Given the description of an element on the screen output the (x, y) to click on. 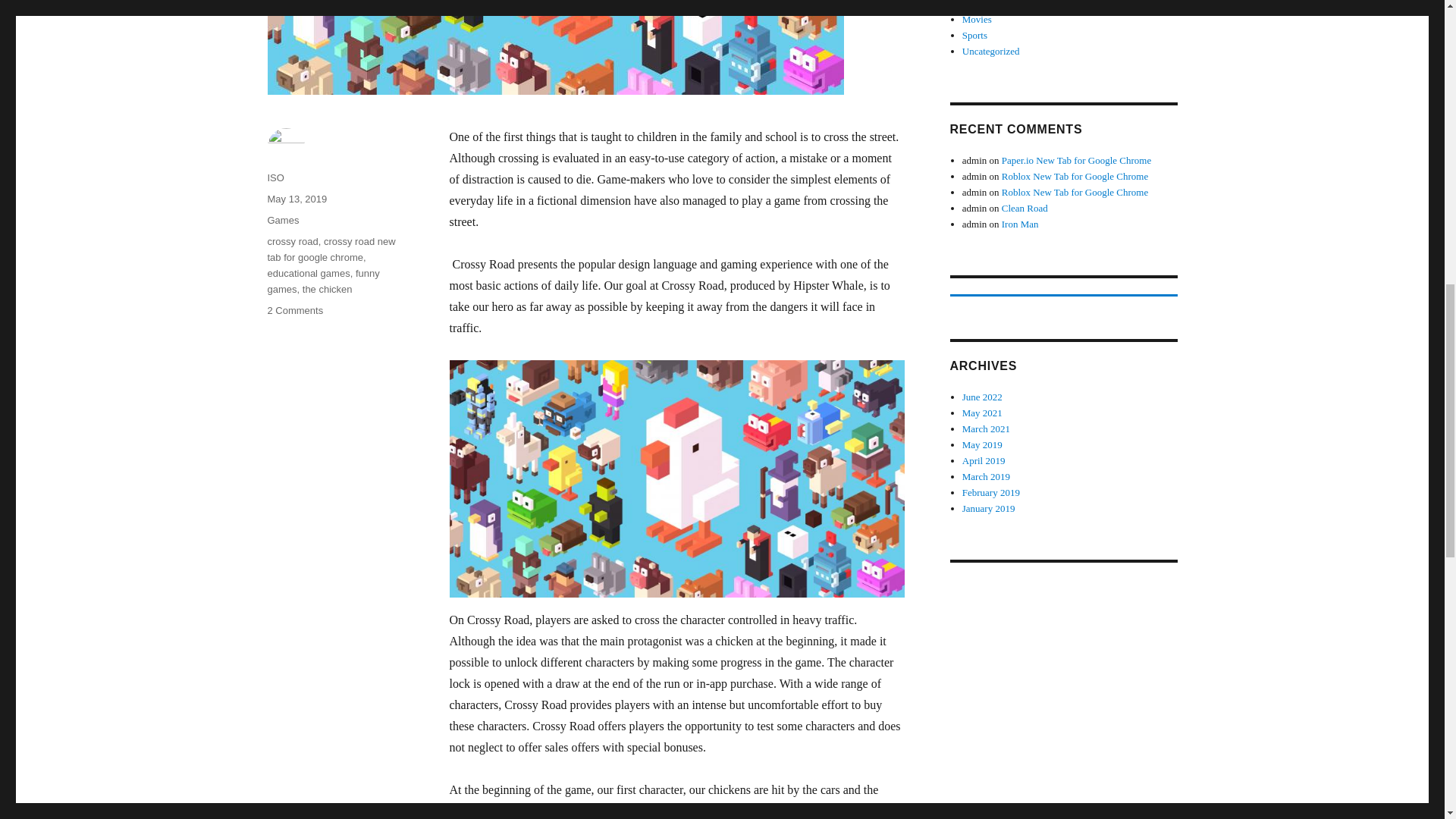
Games (282, 220)
ISO (274, 177)
crossy road (291, 241)
educational games (307, 273)
Paper.io New Tab for Google Chrome (1076, 160)
the chicken (327, 288)
Movies (976, 19)
funny games (294, 310)
May 13, 2019 (322, 280)
Roblox New Tab for Google Chrome (296, 198)
Sports (1074, 192)
Roblox New Tab for Google Chrome (974, 34)
crossy road new tab for google chrome (1074, 175)
Games (330, 248)
